Given the description of an element on the screen output the (x, y) to click on. 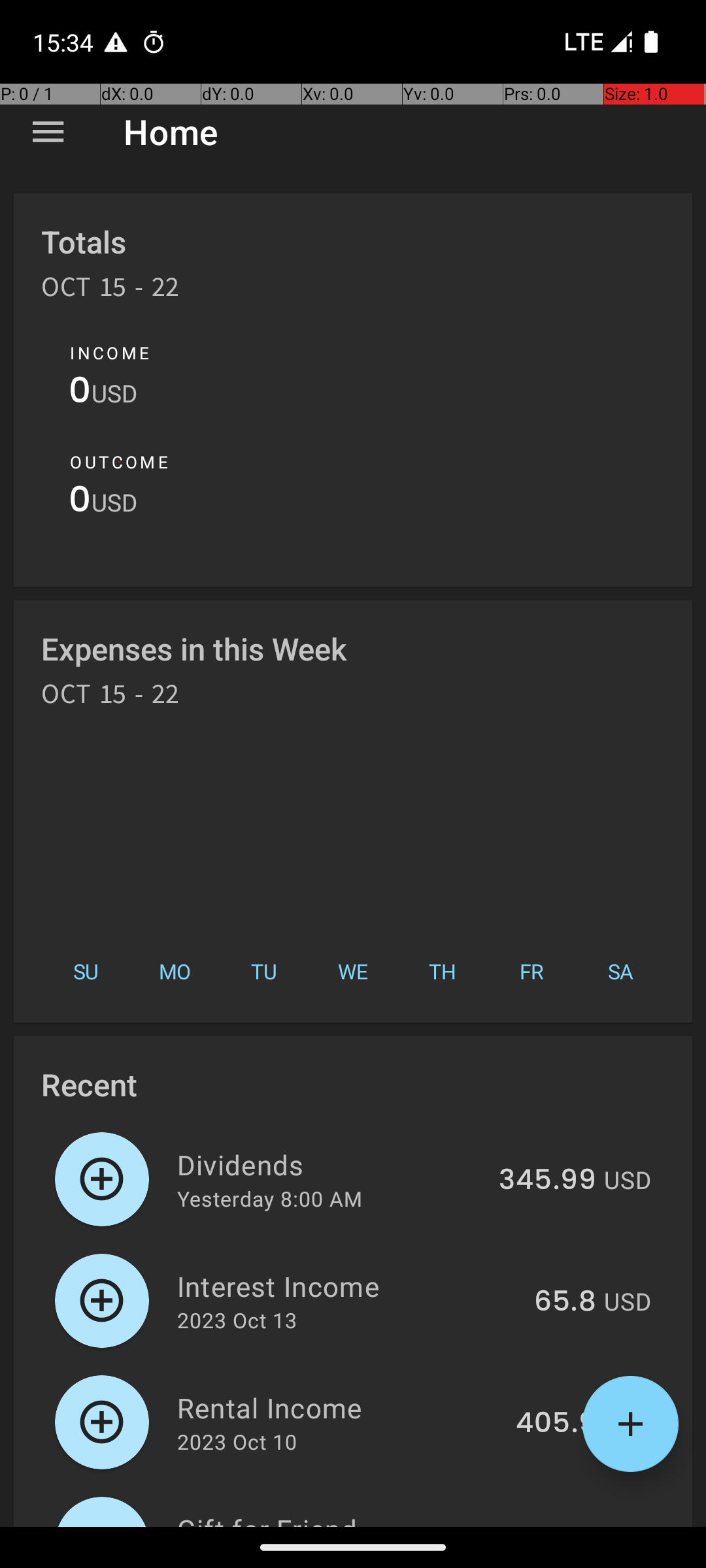
Dividends Element type: android.widget.TextView (330, 1164)
Yesterday 8:00 AM Element type: android.widget.TextView (269, 1198)
345.99 Element type: android.widget.TextView (547, 1180)
Interest Income Element type: android.widget.TextView (347, 1285)
65.8 Element type: android.widget.TextView (564, 1301)
Rental Income Element type: android.widget.TextView (338, 1407)
2023 Oct 10 Element type: android.widget.TextView (236, 1441)
405.9 Element type: android.widget.TextView (555, 1423)
Gift for Friend Element type: android.widget.TextView (334, 1518)
431.48 Element type: android.widget.TextView (550, 1524)
